Given the description of an element on the screen output the (x, y) to click on. 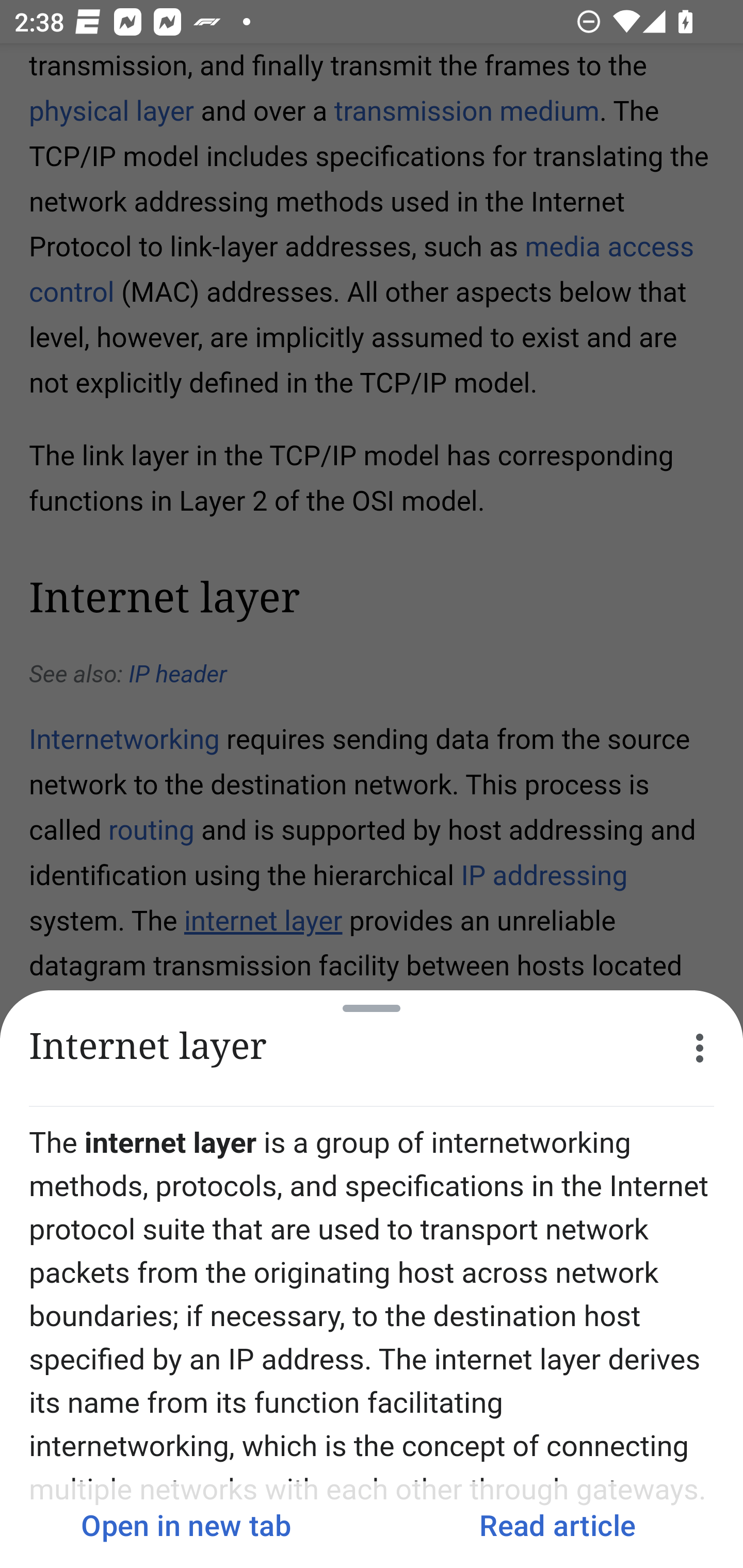
Internet layer More options (371, 1047)
More options (699, 1048)
Open in new tab (185, 1524)
Read article (557, 1524)
